Given the description of an element on the screen output the (x, y) to click on. 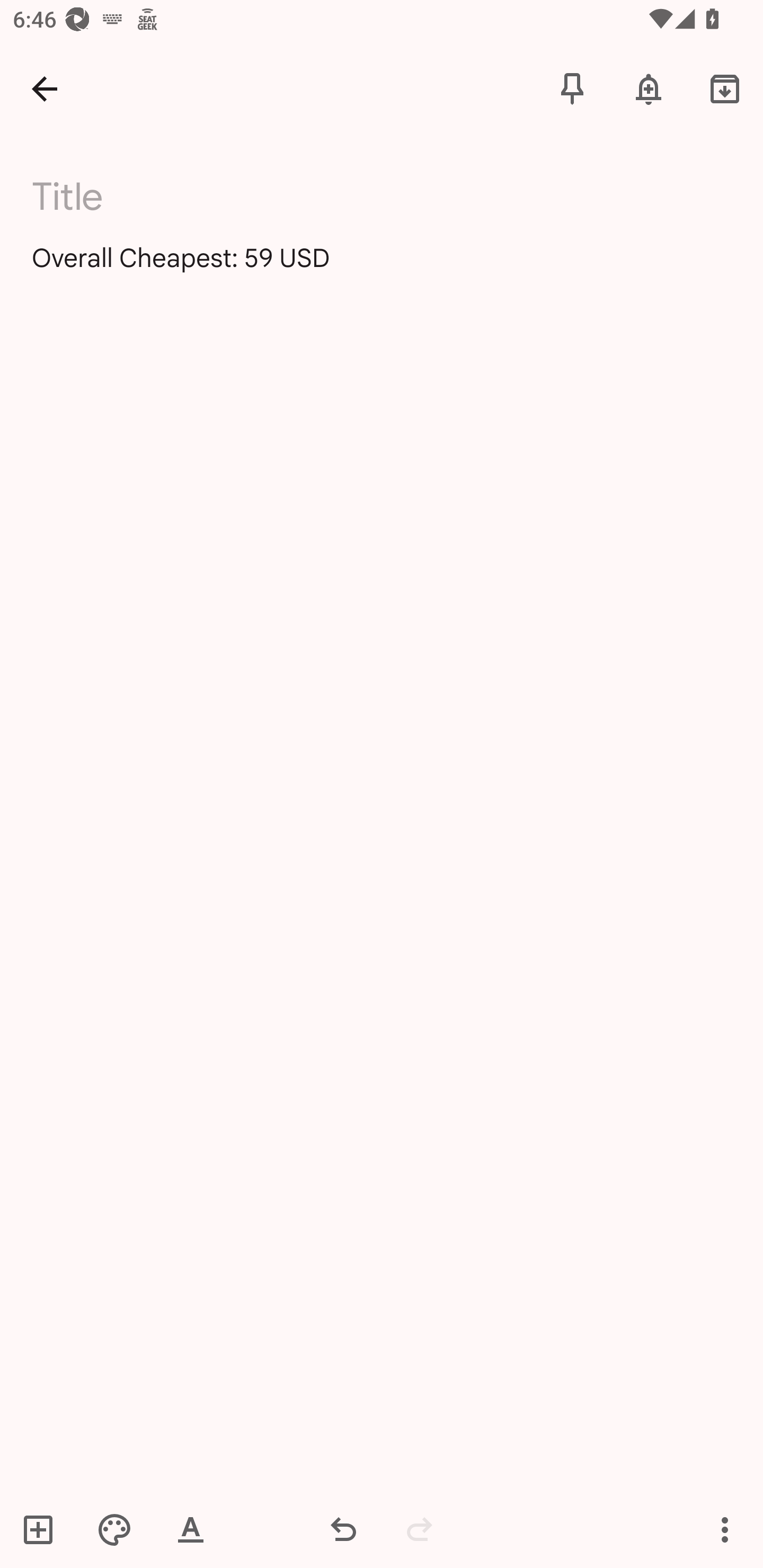
Navigate up (44, 88)
Pin (572, 88)
Reminder (648, 88)
Archive (724, 88)
Overall Cheapest: 59 USD (381, 273)
New list (44, 1529)
Theme (114, 1529)
Show formatting controls (190, 1529)
Undo (343, 1529)
Redo (419, 1529)
Action (724, 1529)
